Given the description of an element on the screen output the (x, y) to click on. 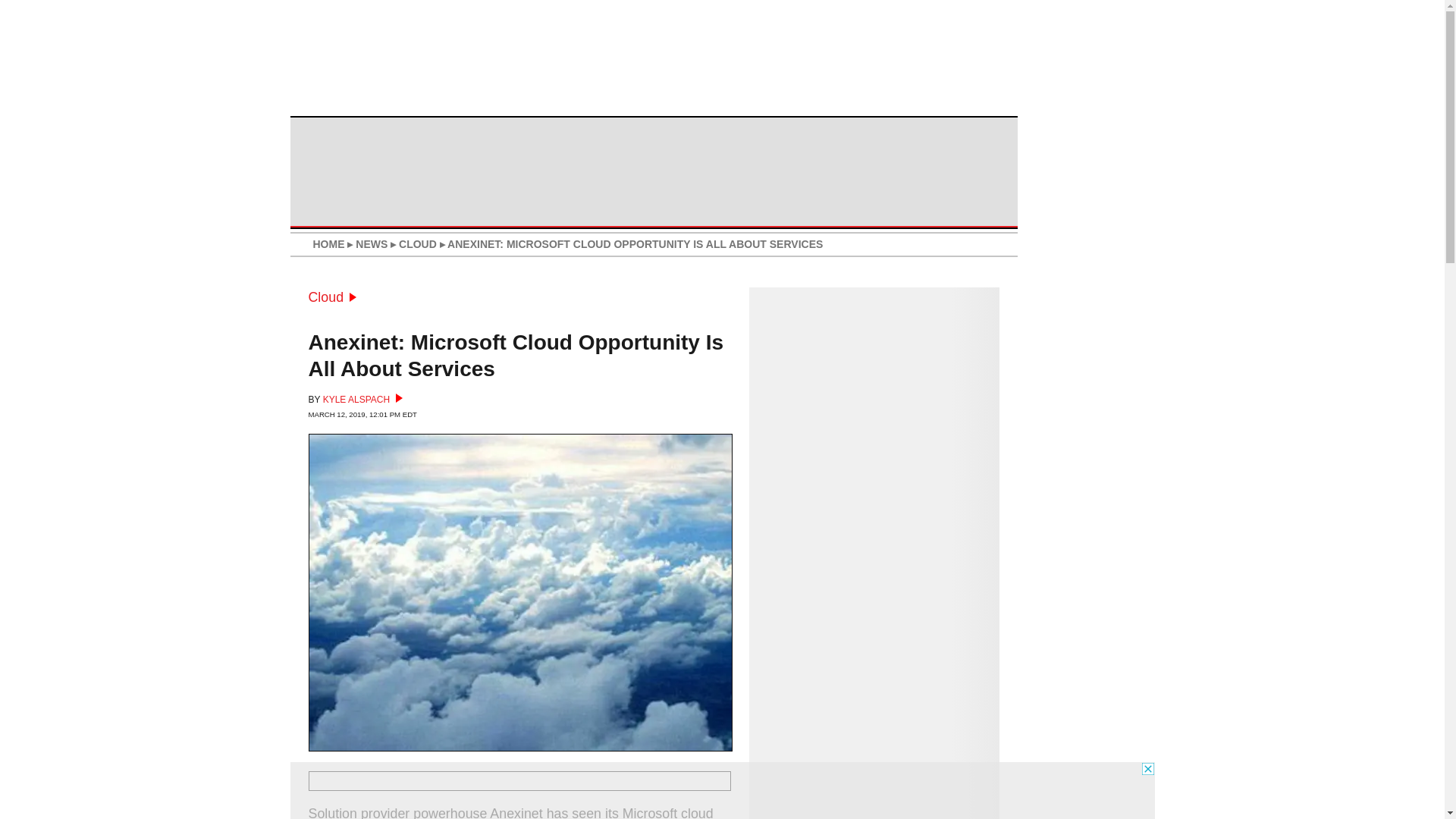
KYLE ALSPACH (363, 398)
Cloud (331, 296)
Cloud (331, 296)
HOME (328, 244)
